Given the description of an element on the screen output the (x, y) to click on. 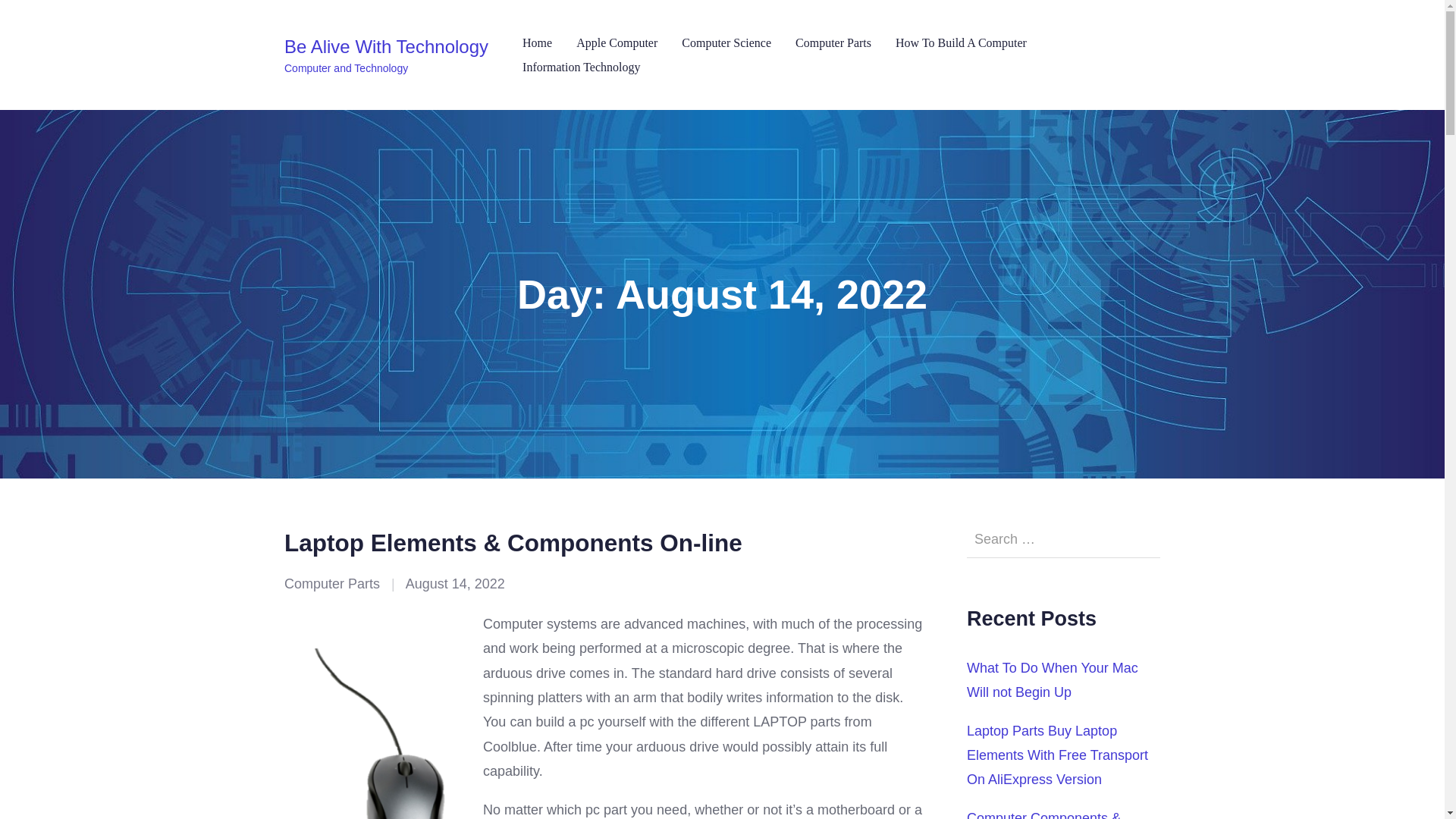
Information Technology (581, 67)
Apple Computer (617, 43)
Search (59, 16)
Search (29, 20)
August 14, 2022 (455, 583)
Computer Parts (832, 43)
Home (536, 43)
What To Do When Your Mac Will not Begin Up (1052, 680)
Computer Science (726, 43)
How To Build A Computer (960, 43)
